Given the description of an element on the screen output the (x, y) to click on. 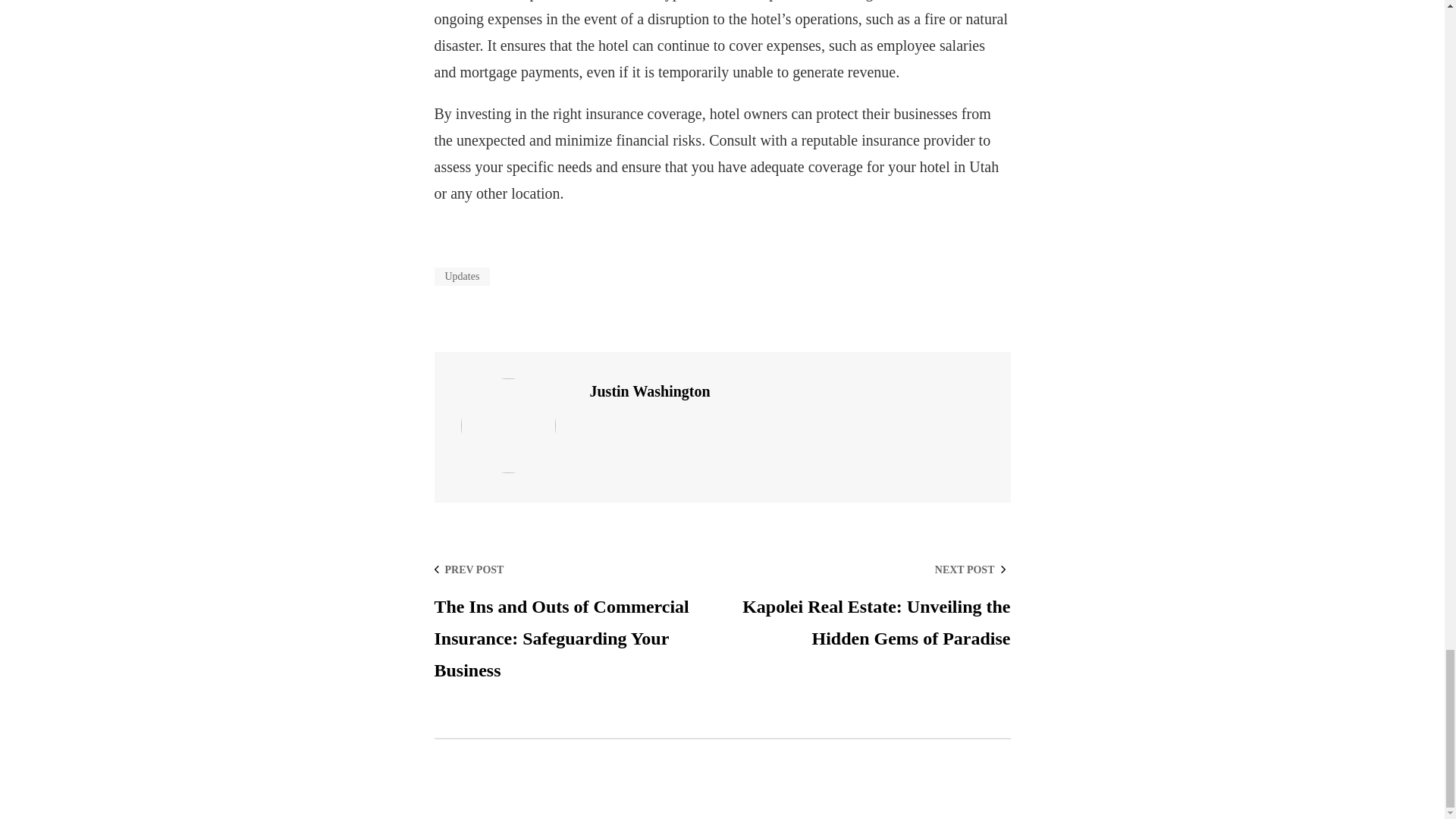
Updates (461, 276)
